Given the description of an element on the screen output the (x, y) to click on. 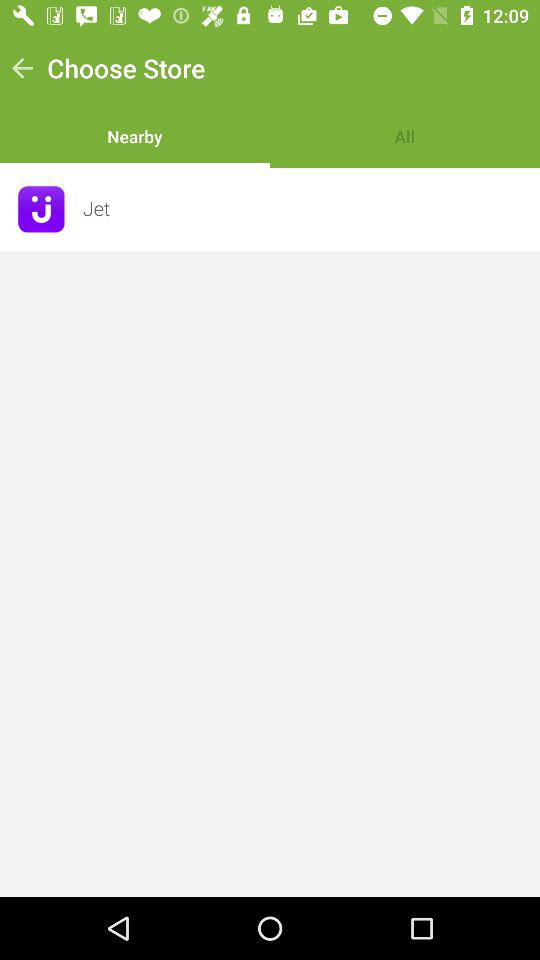
turn off the icon to the left of choose store item (22, 67)
